Given the description of an element on the screen output the (x, y) to click on. 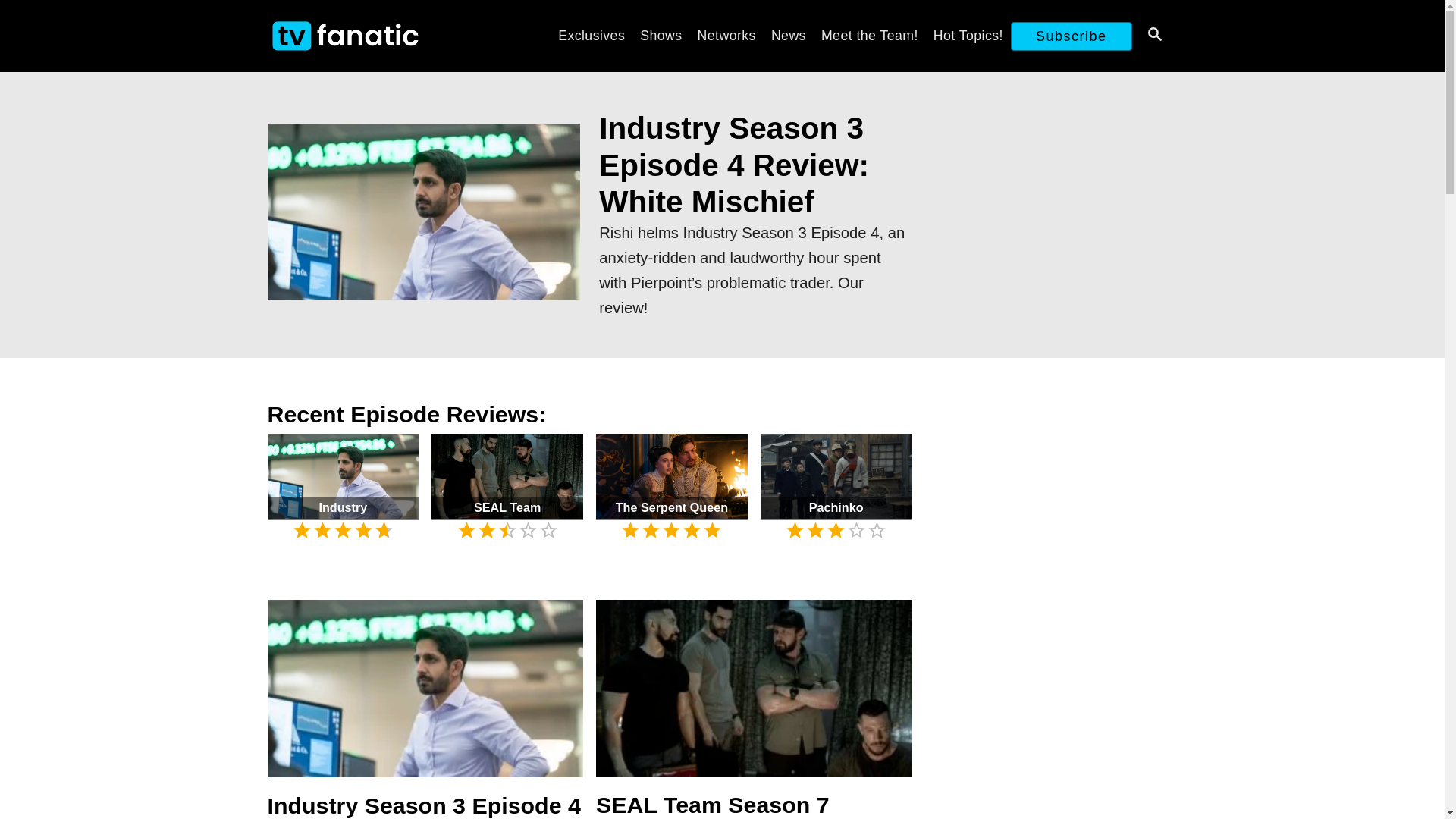
Shows (659, 35)
Networks (726, 35)
SEAL Team Season 7 Episode 5 Review: A Perfect Storm (753, 695)
SEARCH (1153, 35)
TV Fanatic (394, 36)
Industry Season 3 Episode 4 Review: White Mischief (422, 215)
Industry Season 3 Episode 4 Review: White Mischief (424, 695)
Exclusives (590, 35)
